Given the description of an element on the screen output the (x, y) to click on. 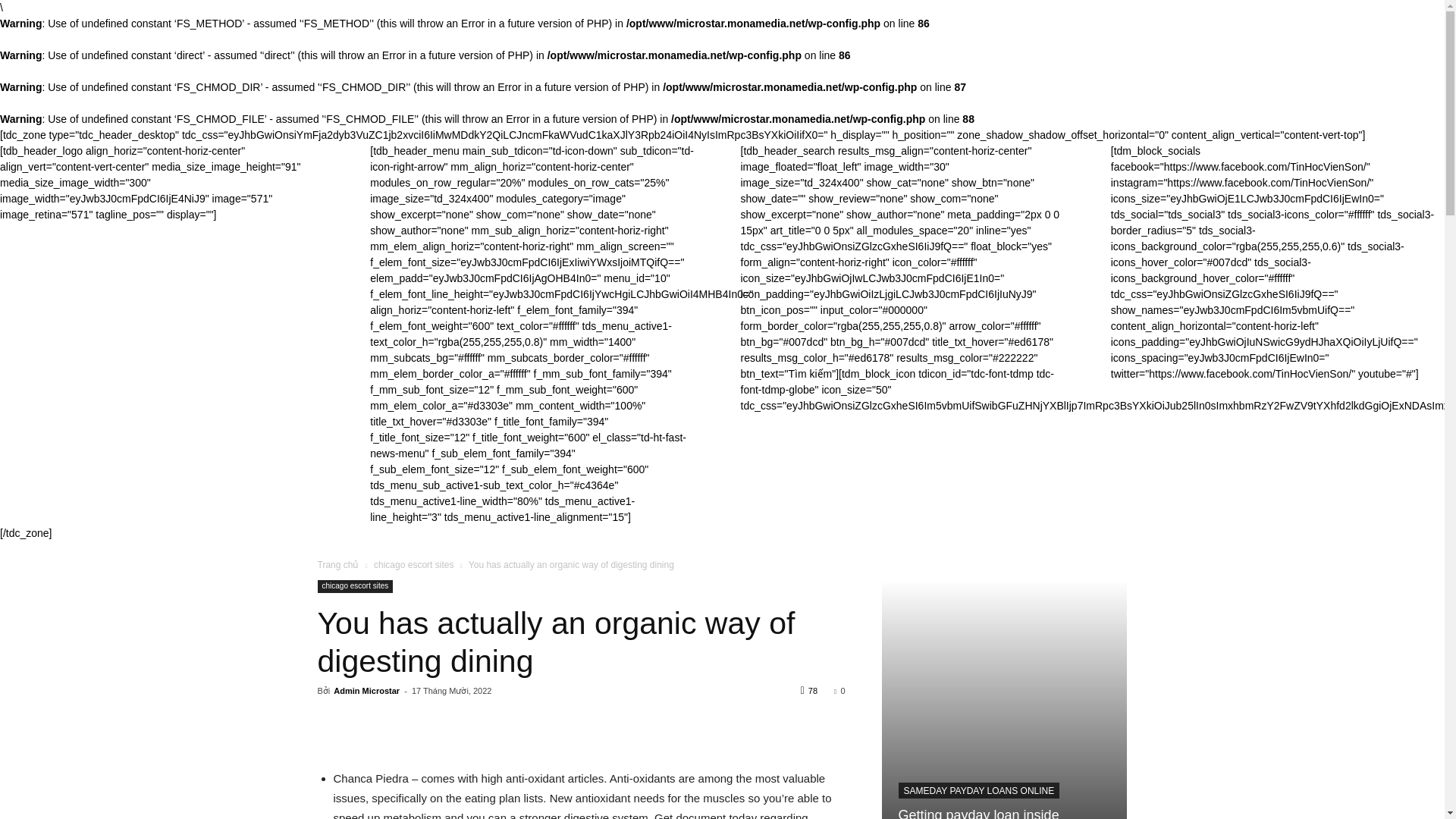
chicago escort sites (413, 564)
Admin Microstar (365, 690)
Getting payday loan inside cleveland ohio 2021 Immediate (1003, 699)
Getting payday loan inside cleveland ohio 2021 Immediate (992, 813)
0 (839, 690)
SAMEDAY PAYDAY LOANS ONLINE (978, 790)
Getting payday loan inside cleveland ohio 2021 Immediate (992, 813)
chicago escort sites (355, 585)
